Given the description of an element on the screen output the (x, y) to click on. 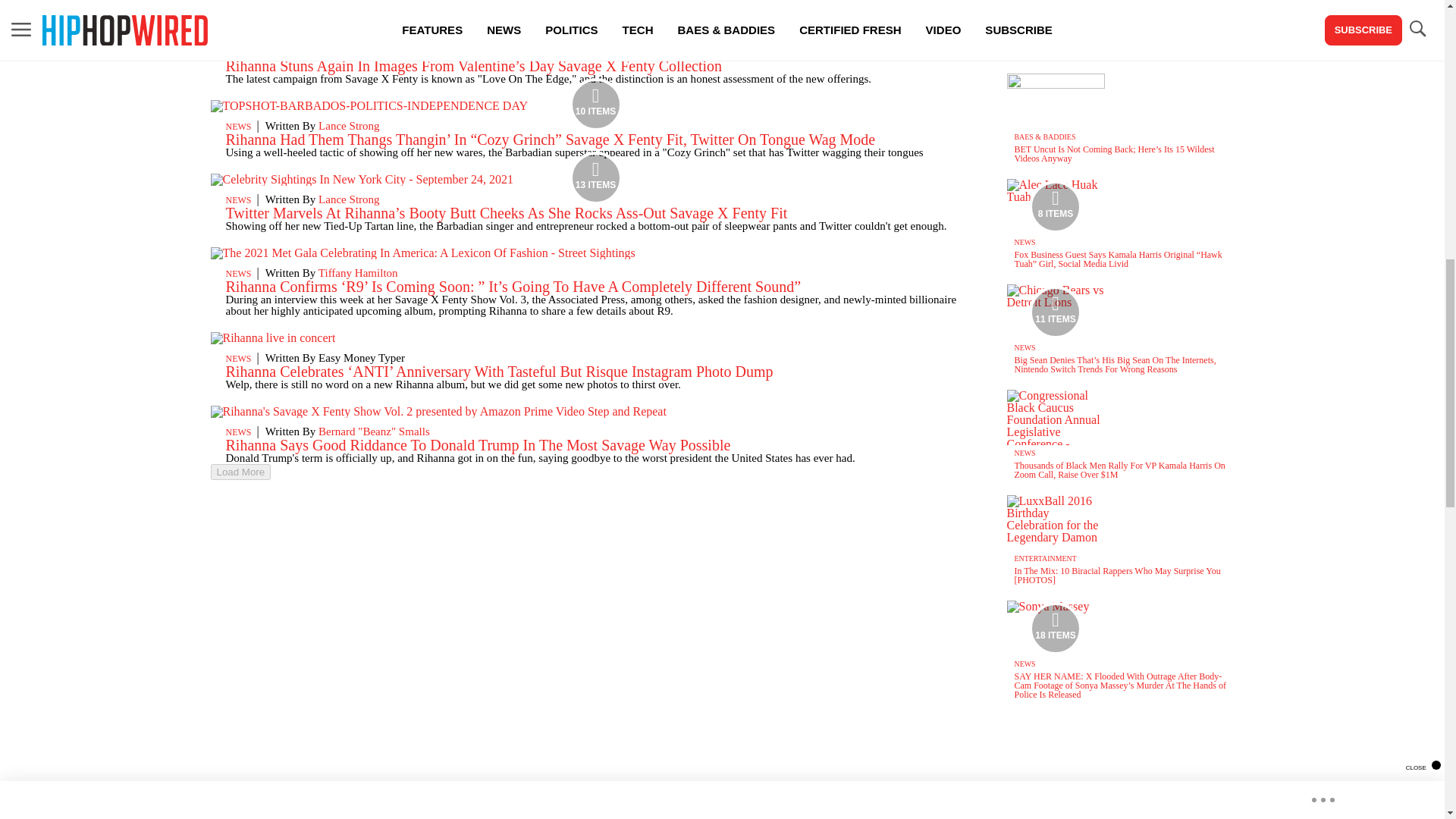
D.L. Chandler (351, 51)
Media Playlist (596, 177)
Media Playlist (1055, 628)
Media Playlist (1055, 311)
Load More (240, 471)
Load More (596, 471)
NEWS (238, 52)
Media Playlist (596, 104)
Media Playlist (1055, 206)
